Given the description of an element on the screen output the (x, y) to click on. 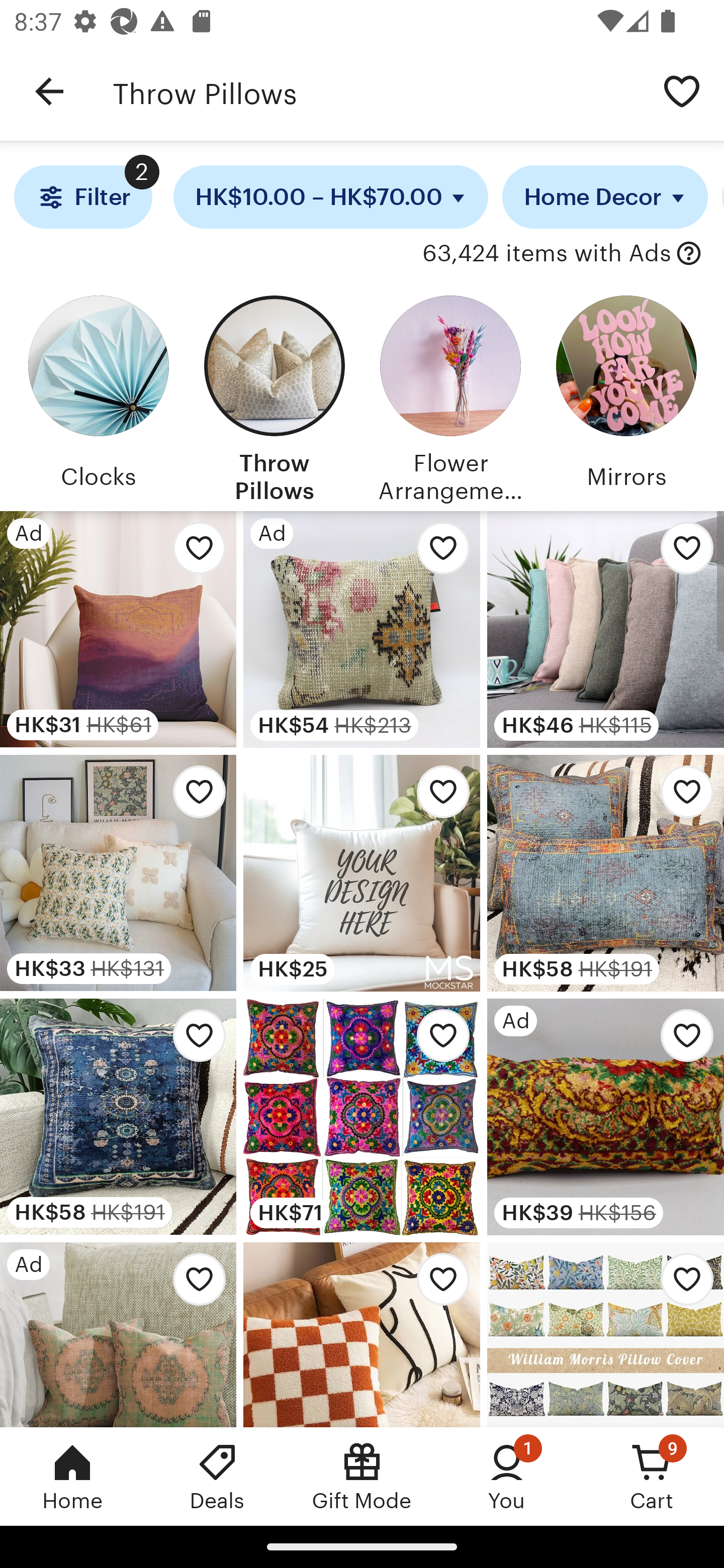
Navigate up (49, 91)
Save search (681, 90)
Throw Pillows (375, 91)
Filter (82, 197)
HK$10.00 – HK$70.00 (330, 197)
Home Decor (605, 197)
63,424 items with Ads (546, 253)
with Ads (688, 253)
Clocks (97, 395)
Throw Pillows (273, 395)
Flower Arrangements (449, 395)
Mirrors (625, 395)
Deals (216, 1475)
Gift Mode (361, 1475)
You, 1 new notification You (506, 1475)
Cart, 9 new notifications Cart (651, 1475)
